Given the description of an element on the screen output the (x, y) to click on. 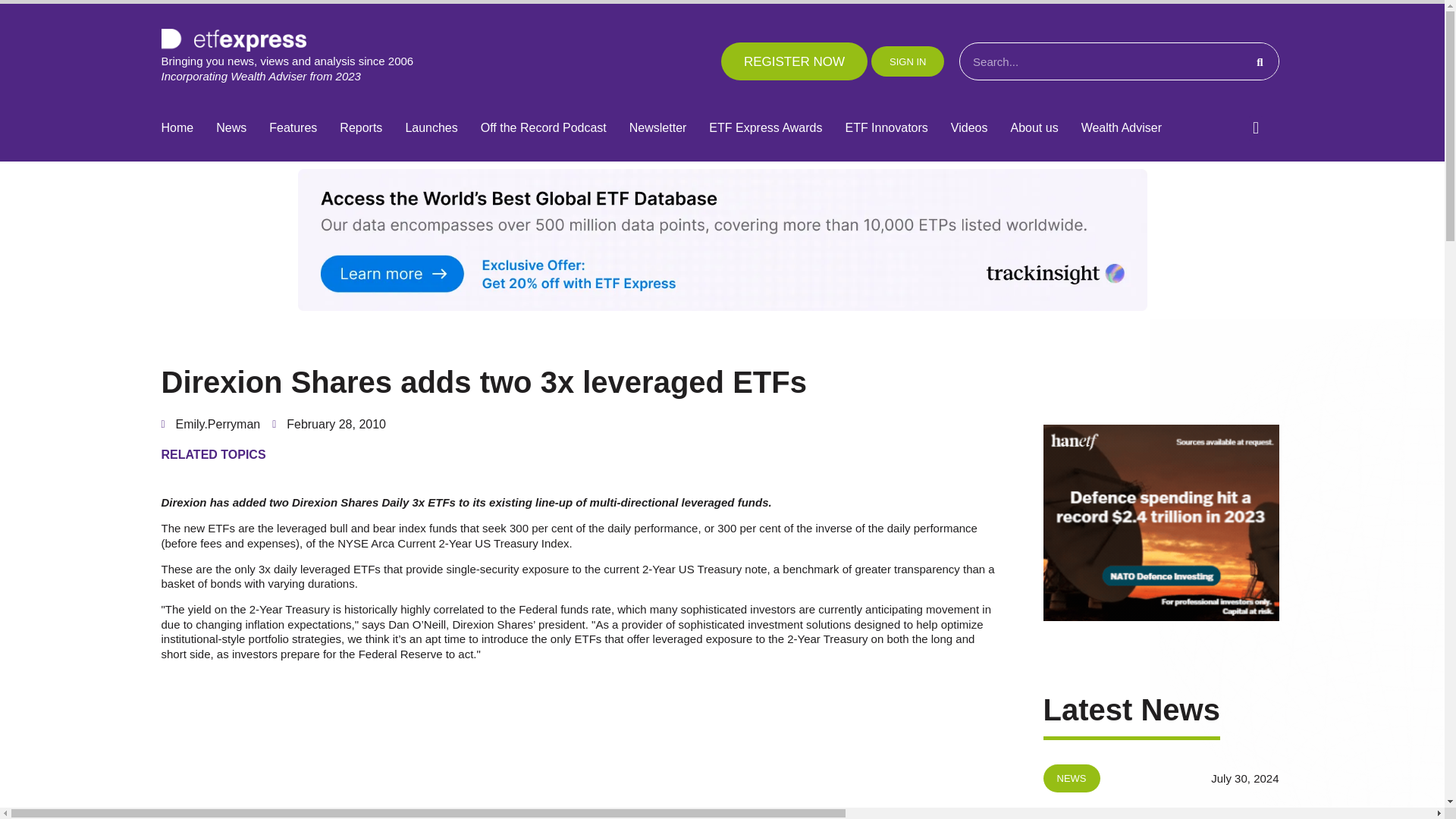
Home (176, 128)
SIGN IN (906, 60)
REGISTER NOW (793, 61)
